Given the description of an element on the screen output the (x, y) to click on. 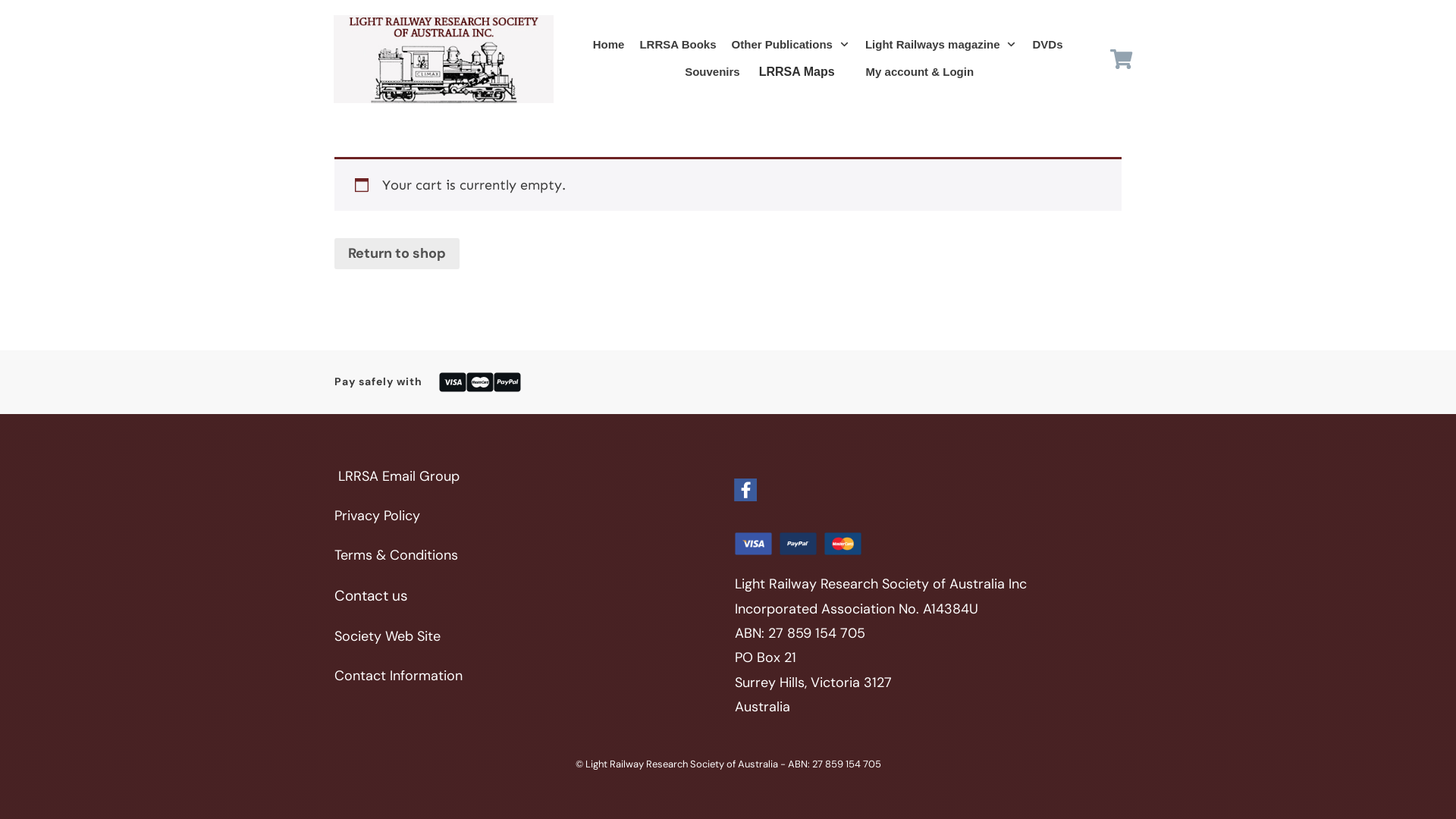
paypal Element type: hover (797, 543)
Return to shop Element type: text (396, 253)
visa Element type: hover (752, 543)
facebook Element type: hover (745, 489)
mastercard Element type: hover (842, 543)
DVDs Element type: text (1047, 44)
Contact us Element type: text (370, 595)
My account & Login Element type: text (920, 71)
Home Element type: text (608, 44)
LRRSA Books Element type: text (677, 44)
Privacy Policy Element type: text (377, 515)
Light Railways magazine Element type: text (941, 44)
Souvenirs Element type: text (712, 71)
Terms & Conditions Element type: text (396, 555)
Society Web Site Element type: text (387, 636)
LRRSA Maps Element type: text (796, 71)
Other Publications Element type: text (790, 44)
Contact Information Element type: text (398, 675)
LRRSA Email Group Element type: text (398, 476)
